Given the description of an element on the screen output the (x, y) to click on. 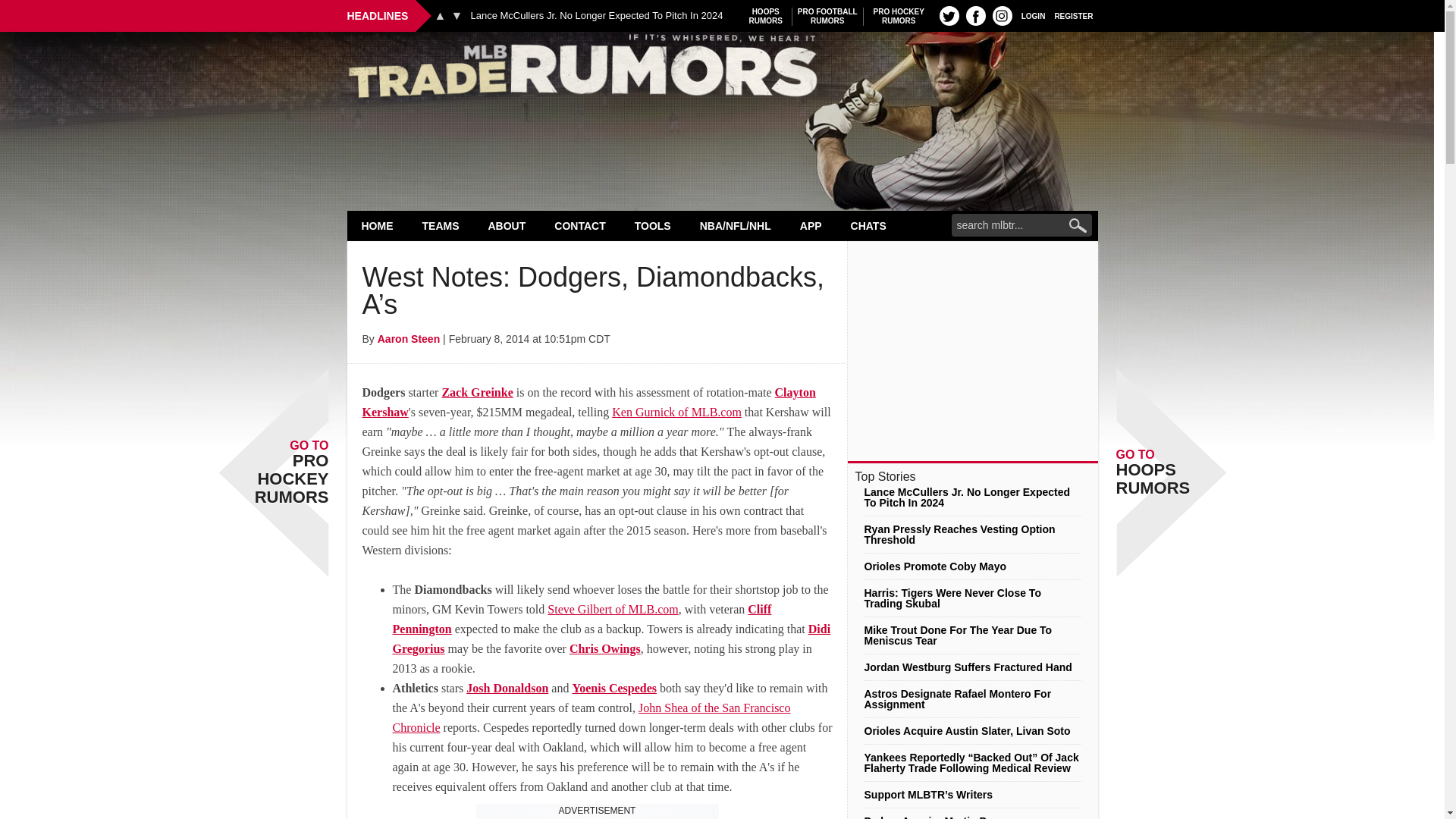
HOME (377, 225)
Lance McCullers Jr. No Longer Expected To Pitch In 2024 (596, 15)
LOGIN (1032, 15)
TEAMS (765, 16)
Previous (440, 225)
MLB Trade Rumors (439, 15)
REGISTER (722, 69)
FB profile (898, 16)
Search (827, 16)
Next (1073, 15)
Instagram profile (975, 15)
